Given the description of an element on the screen output the (x, y) to click on. 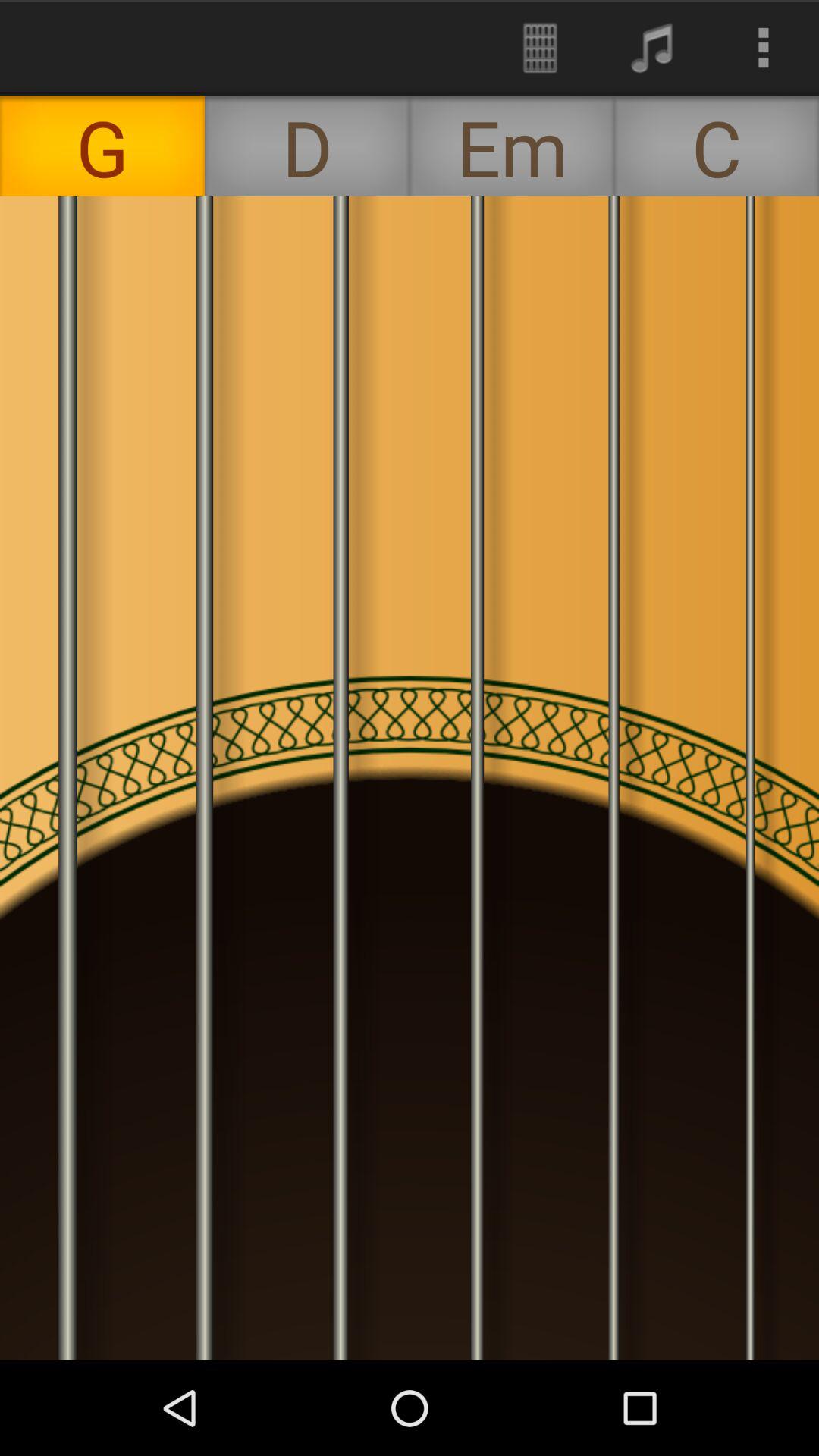
turn on the icon to the right of d item (540, 47)
